Given the description of an element on the screen output the (x, y) to click on. 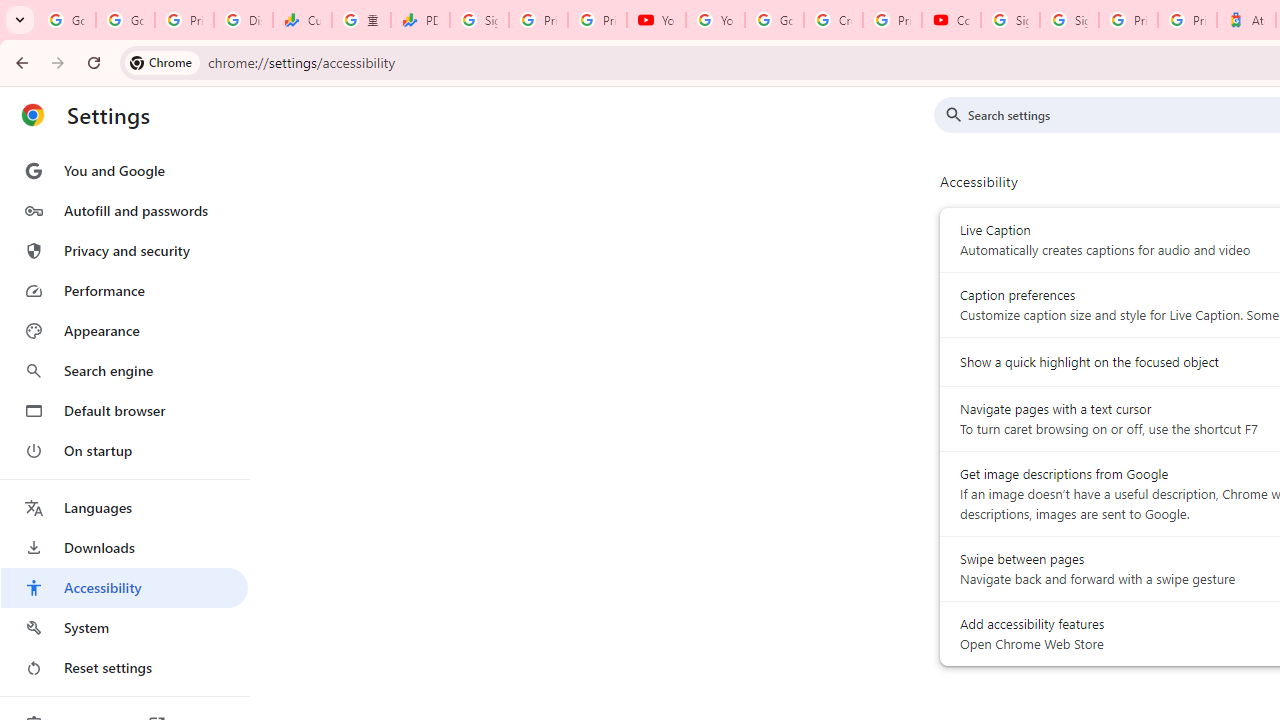
Reset settings (124, 668)
Default browser (124, 410)
Autofill and passwords (124, 210)
Google Account Help (774, 20)
Accessibility (124, 587)
You and Google (124, 170)
Content Creator Programs & Opportunities - YouTube Creators (950, 20)
Performance (124, 290)
